Given the description of an element on the screen output the (x, y) to click on. 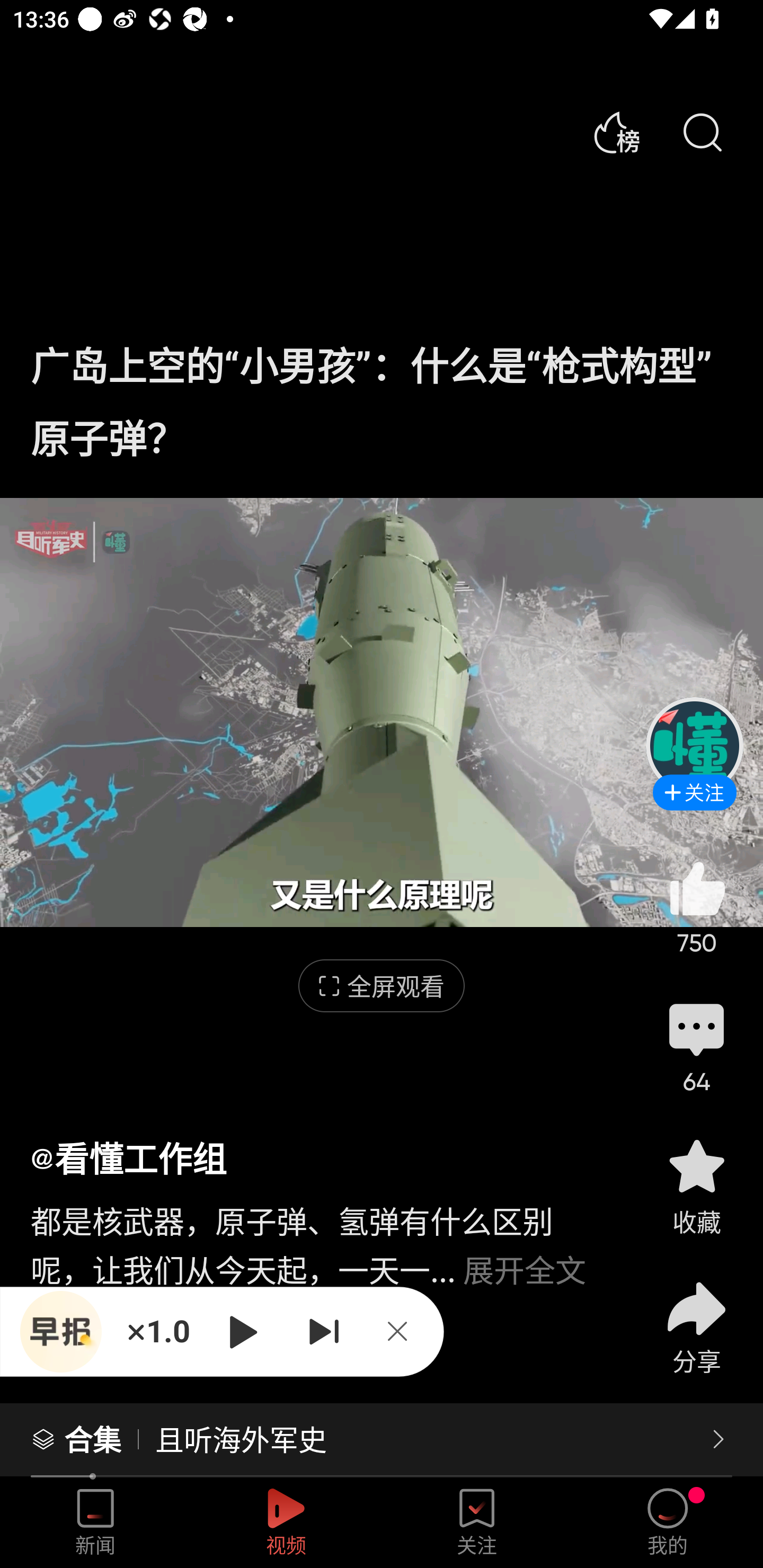
 热榜 (616, 133)
 搜索 (701, 133)
赞 750 (696, 906)
全屏观看 (381, 985)
评论  64 (696, 1045)
收藏 (696, 1184)
看懂工作组 (128, 1157)
都是核武器，原子弹、氢弹有什么区别呢，让我们从今天起，一天一... 展开全文 (321, 1235)
分享  分享 (696, 1315)
 播放 (242, 1330)
 下一个 (323, 1330)
 关闭 (404, 1330)
播放器 (60, 1331)
 1.0 (157, 1330)
合集 且听海外军史  (381, 1440)
